Given the description of an element on the screen output the (x, y) to click on. 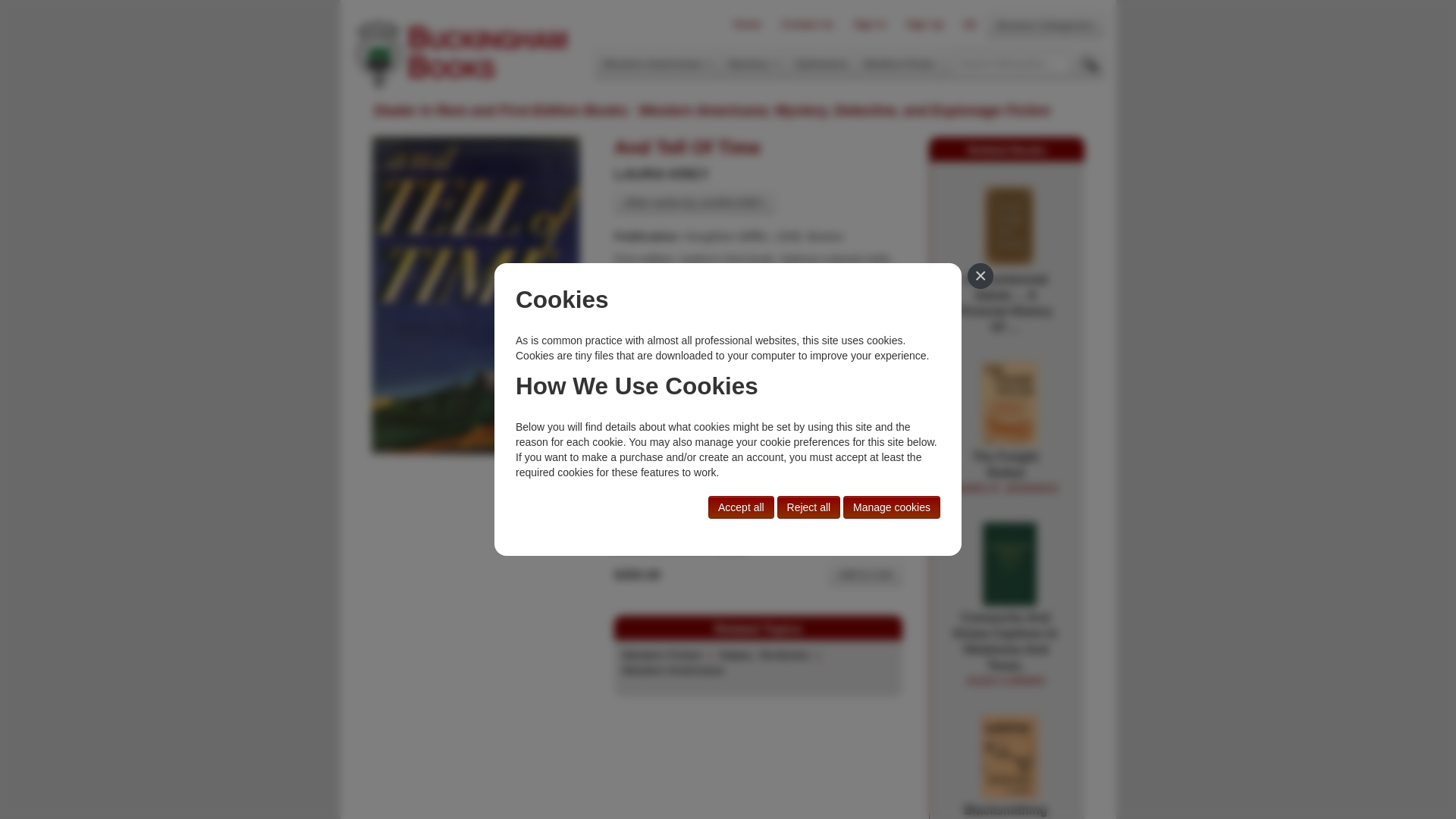
Modern Firsts (899, 63)
Home (746, 24)
Comanche And Kiowa Captives In Oklahoma And Texas. (1005, 649)
Other works by LAURA KREY (694, 201)
Add to Cart (865, 573)
Browse Categories (1005, 472)
Western Americana (1045, 24)
